Given the description of an element on the screen output the (x, y) to click on. 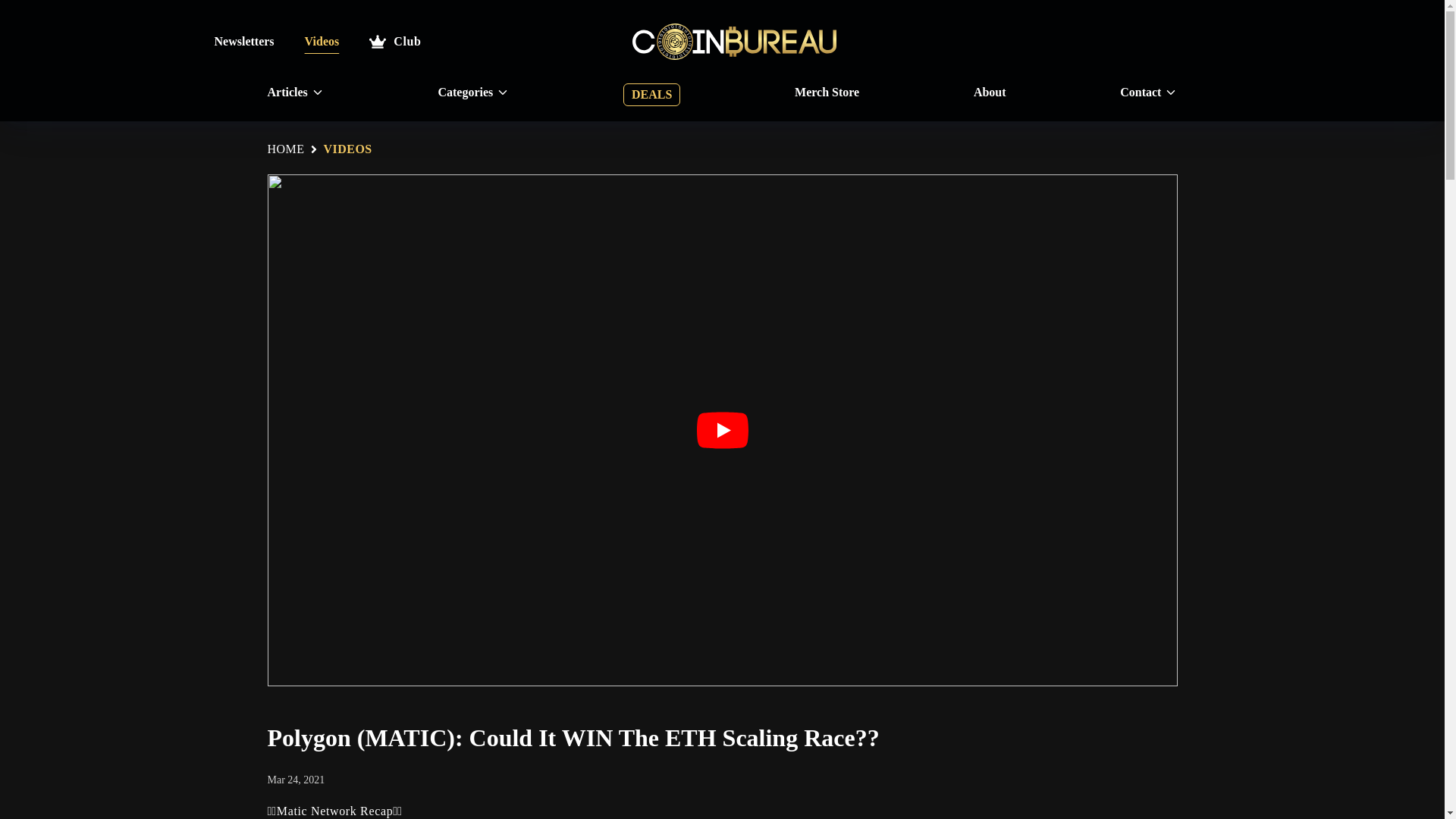
DEALS (651, 94)
Newsletters (243, 41)
Merch Store (826, 92)
Club (394, 41)
About (990, 92)
Videos (322, 41)
